Given the description of an element on the screen output the (x, y) to click on. 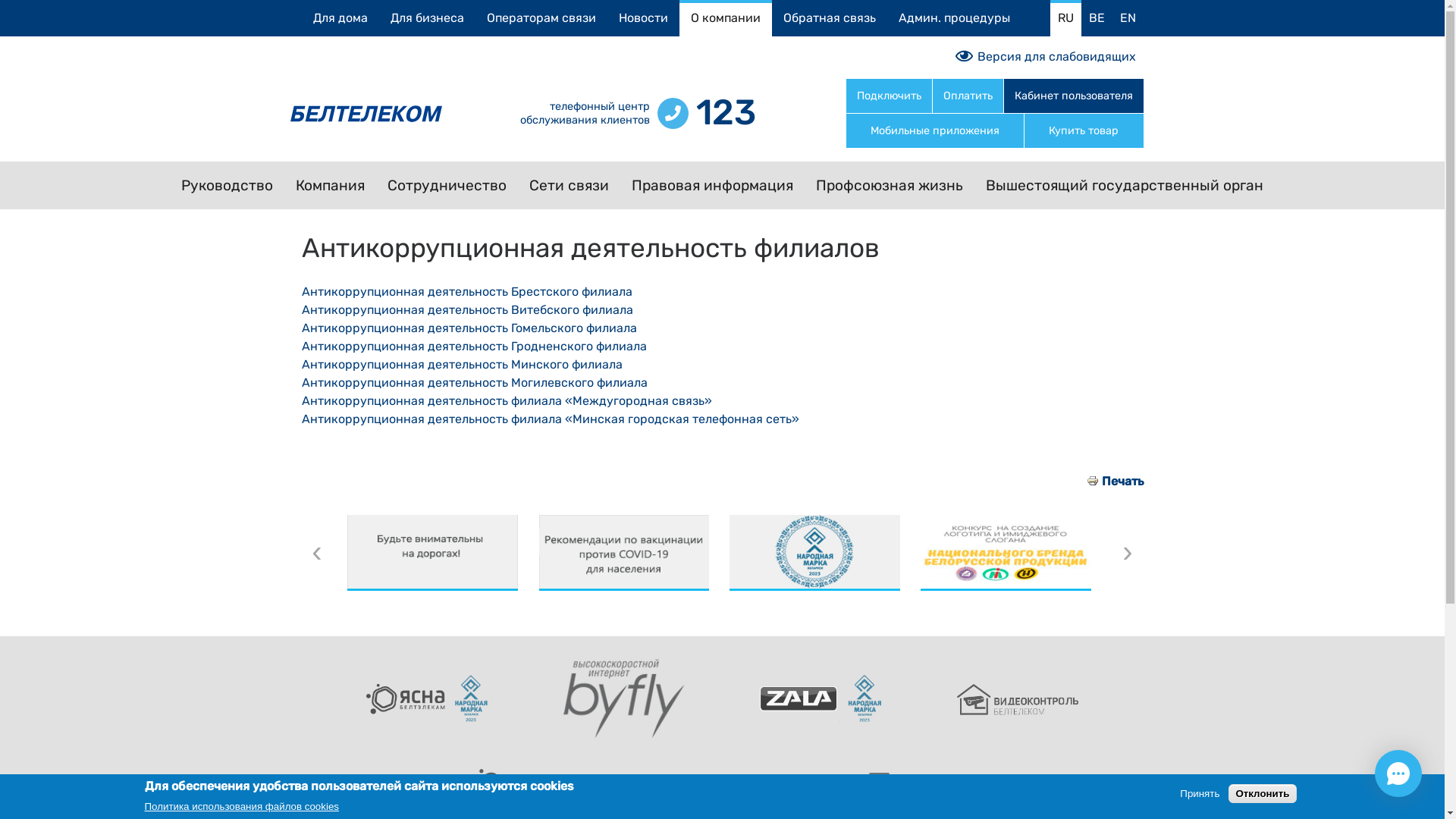
BE Element type: text (1096, 18)
EN Element type: text (1126, 18)
RU Element type: text (1064, 18)
